Given the description of an element on the screen output the (x, y) to click on. 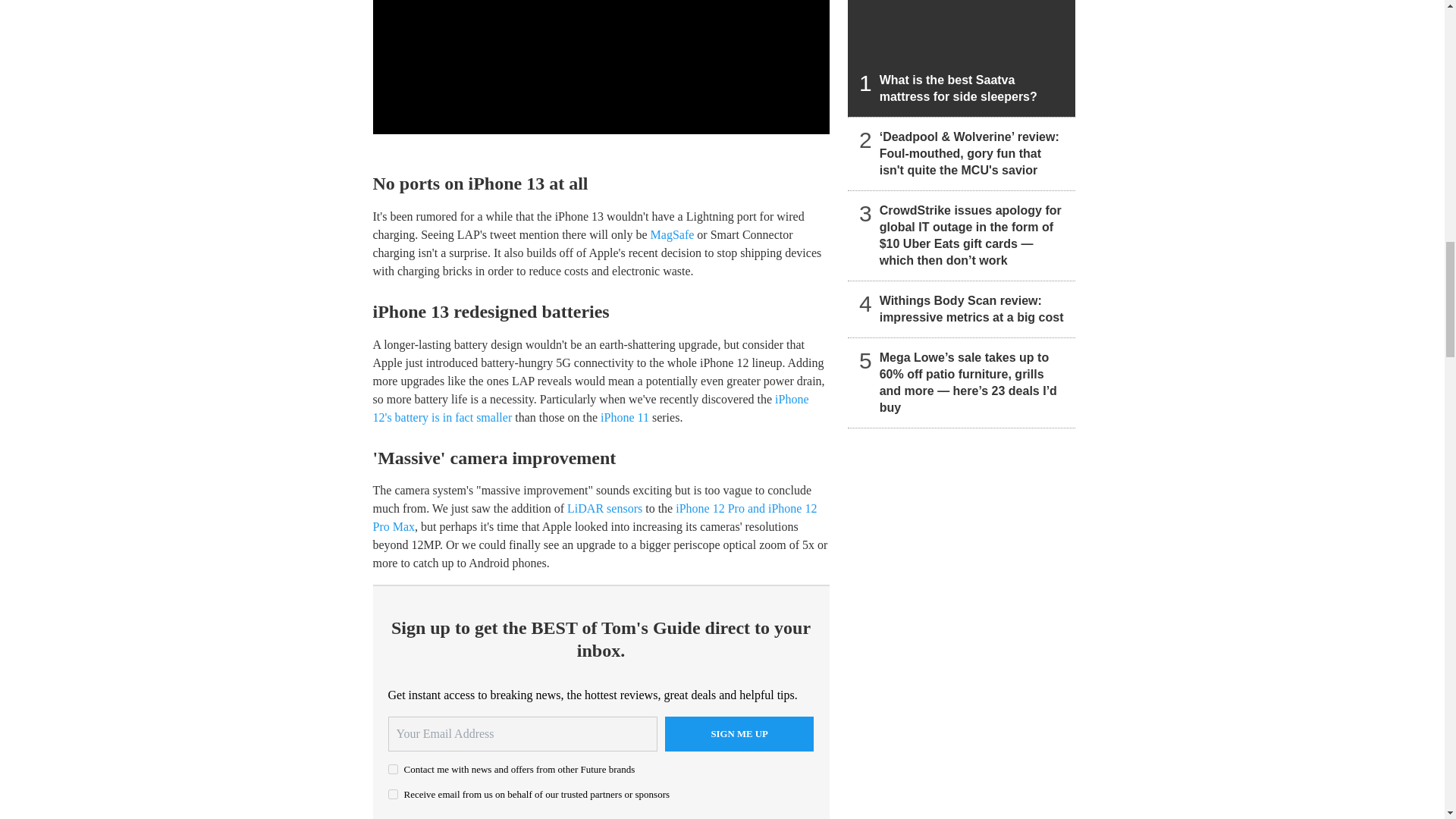
on (392, 768)
What is the best Saatva mattress for side sleepers? (961, 58)
Sign me up (739, 733)
on (392, 794)
